Given the description of an element on the screen output the (x, y) to click on. 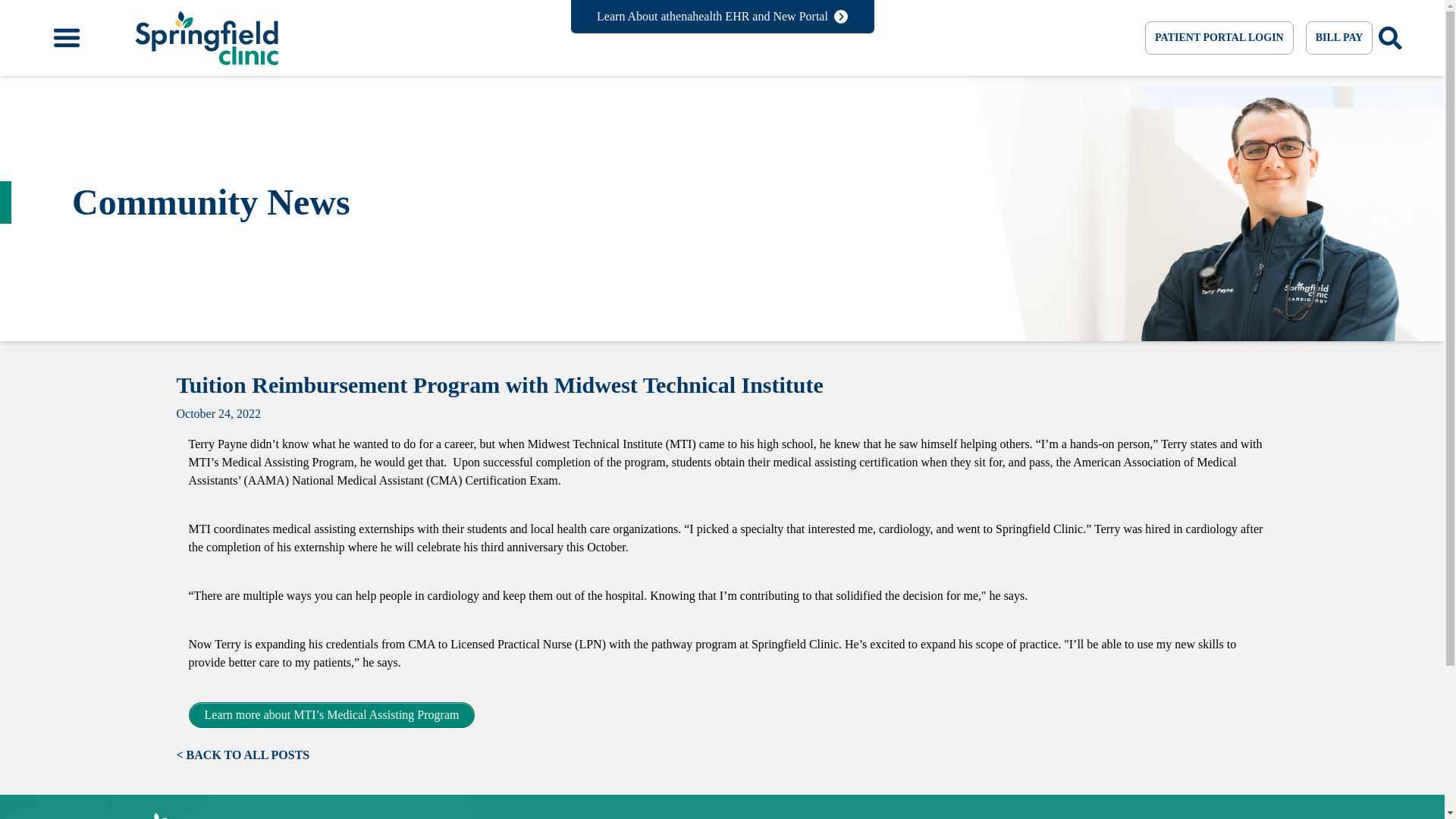
PATIENT PORTAL LOGIN (1219, 37)
BILL PAY (1339, 37)
Patient Portal Login (1219, 37)
Learn About athenahealth EHR and New Portal (721, 16)
Bill Pay (1339, 37)
View Homepage (200, 816)
